Given the description of an element on the screen output the (x, y) to click on. 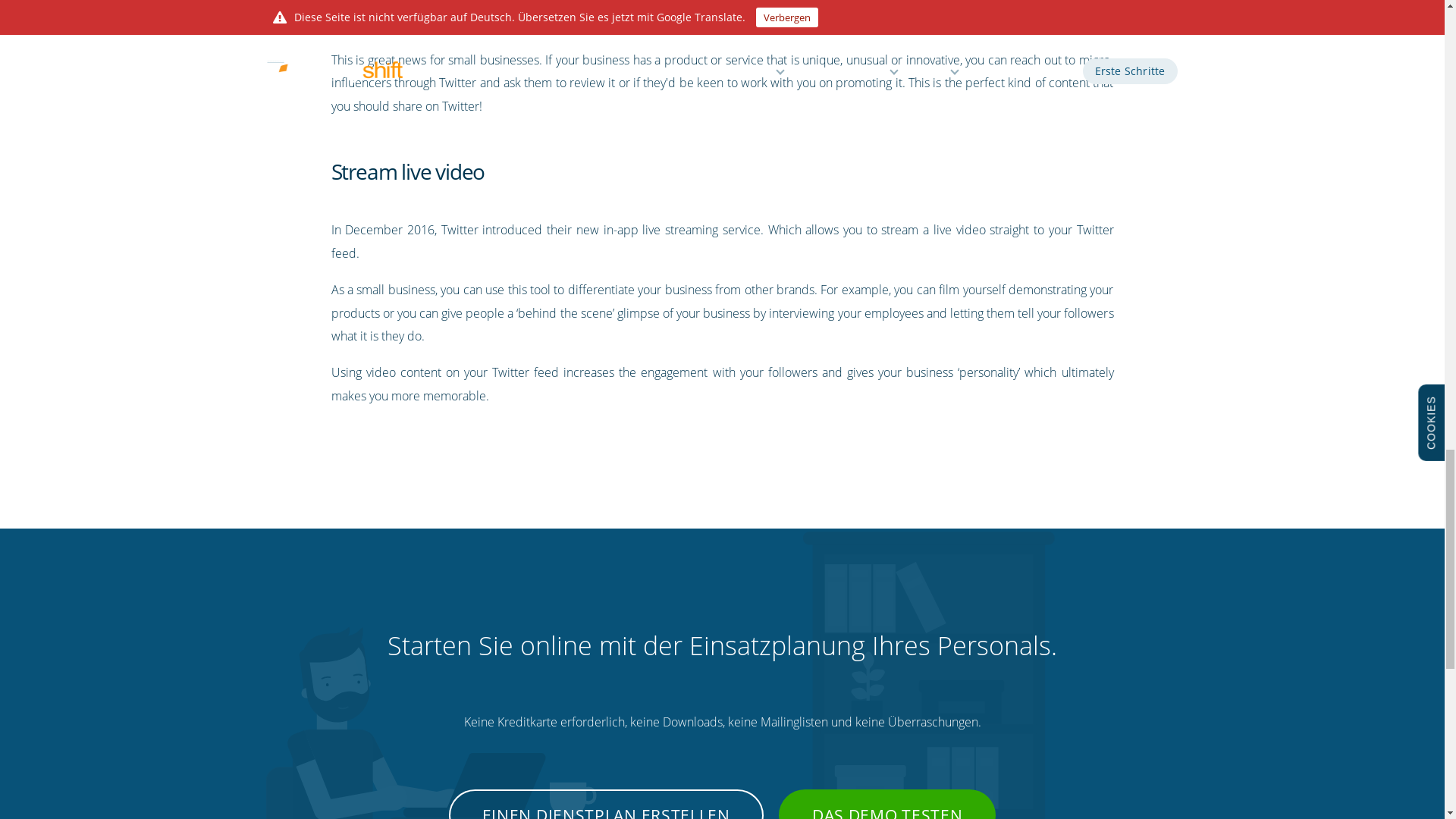
EINEN DIENSTPLAN ERSTELLEN (605, 804)
DAS DEMO TESTEN (886, 804)
micro-influencers (989, 4)
